Given the description of an element on the screen output the (x, y) to click on. 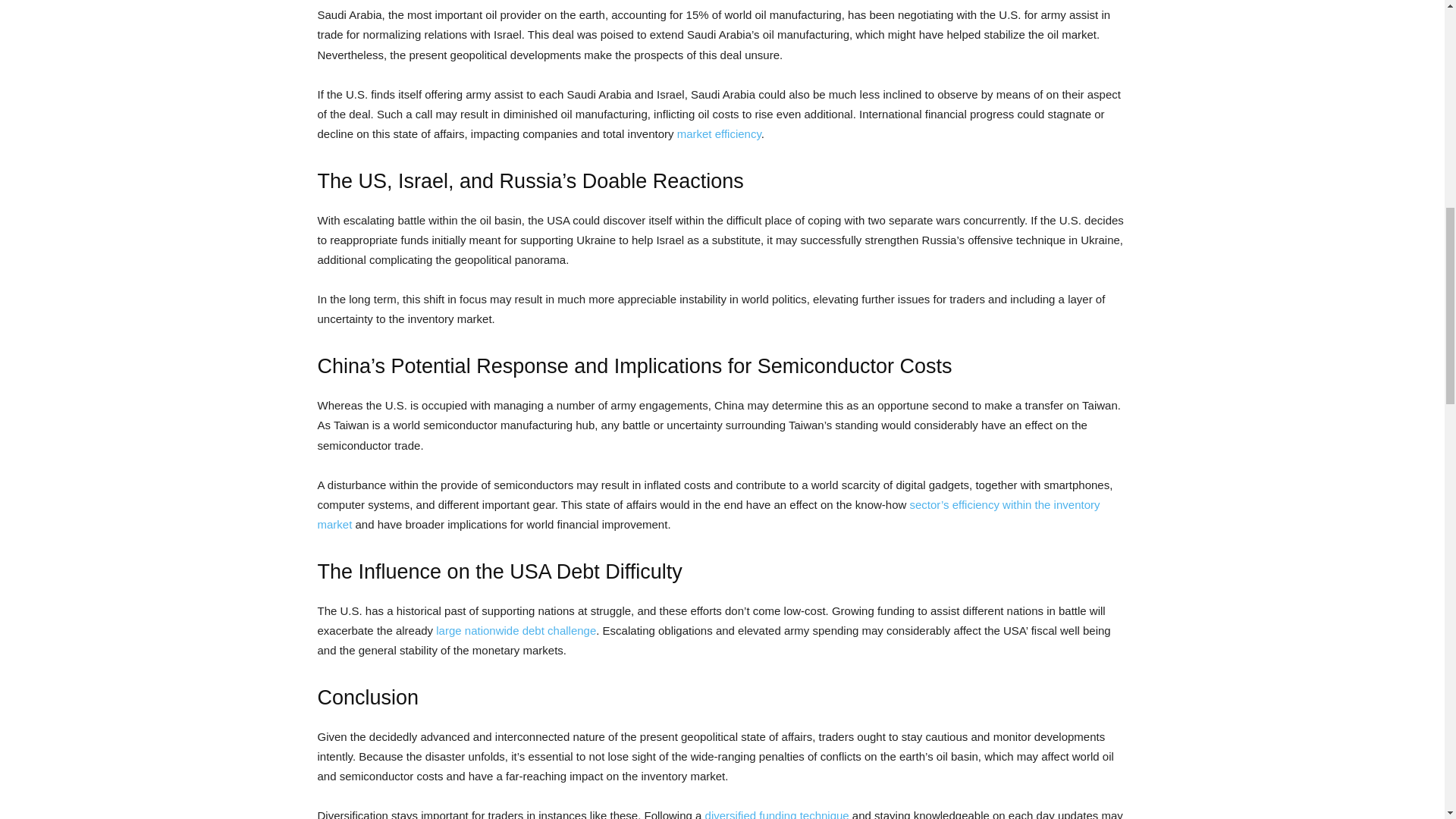
market efficiency (719, 133)
diversified funding technique (776, 814)
large nationwide debt challenge (515, 630)
